Given the description of an element on the screen output the (x, y) to click on. 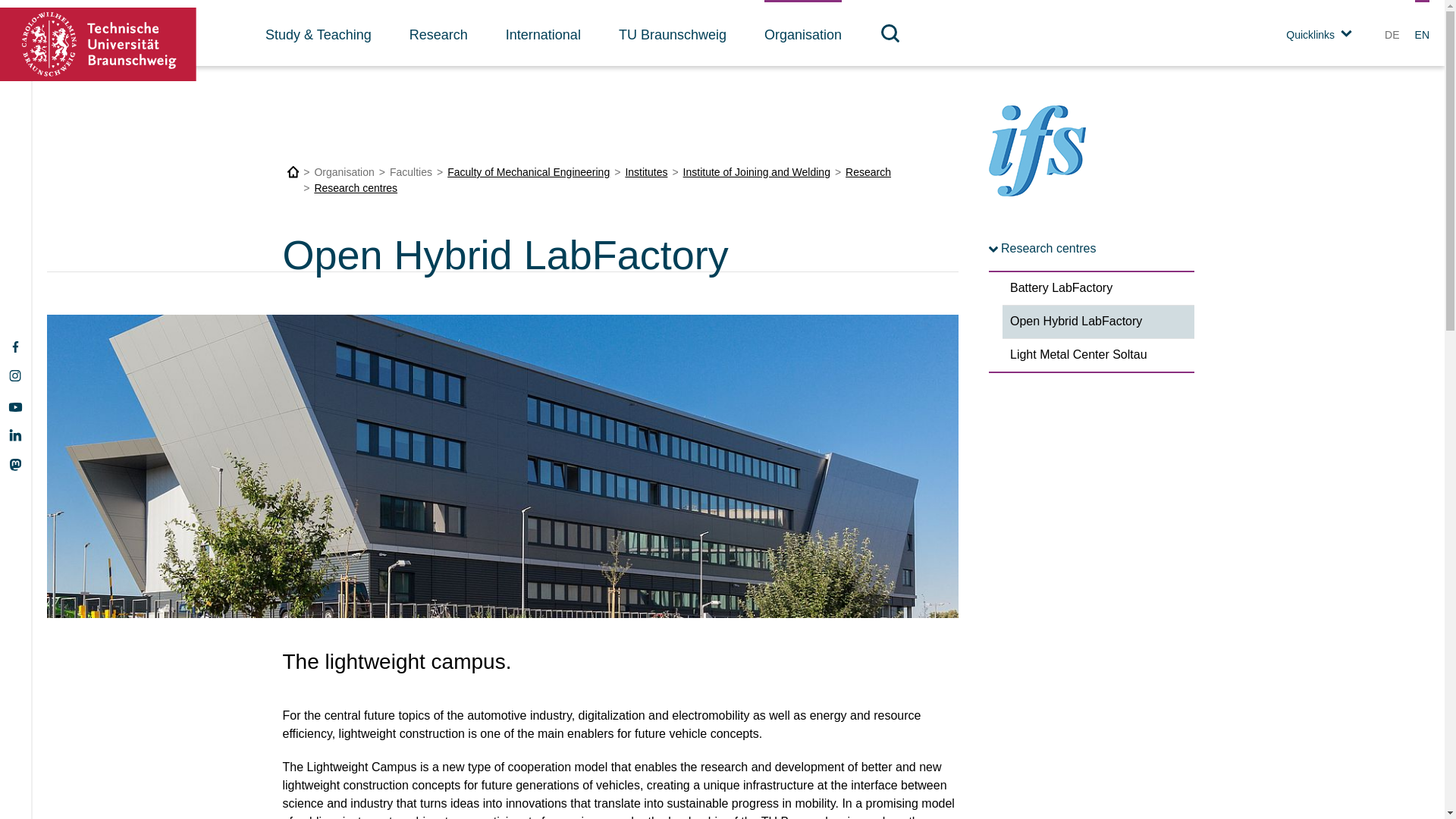
Mastodon (14, 463)
LinkedIn (14, 435)
YouTube (15, 406)
Research (438, 33)
Instagram (14, 376)
Facebook (14, 346)
